Given the description of an element on the screen output the (x, y) to click on. 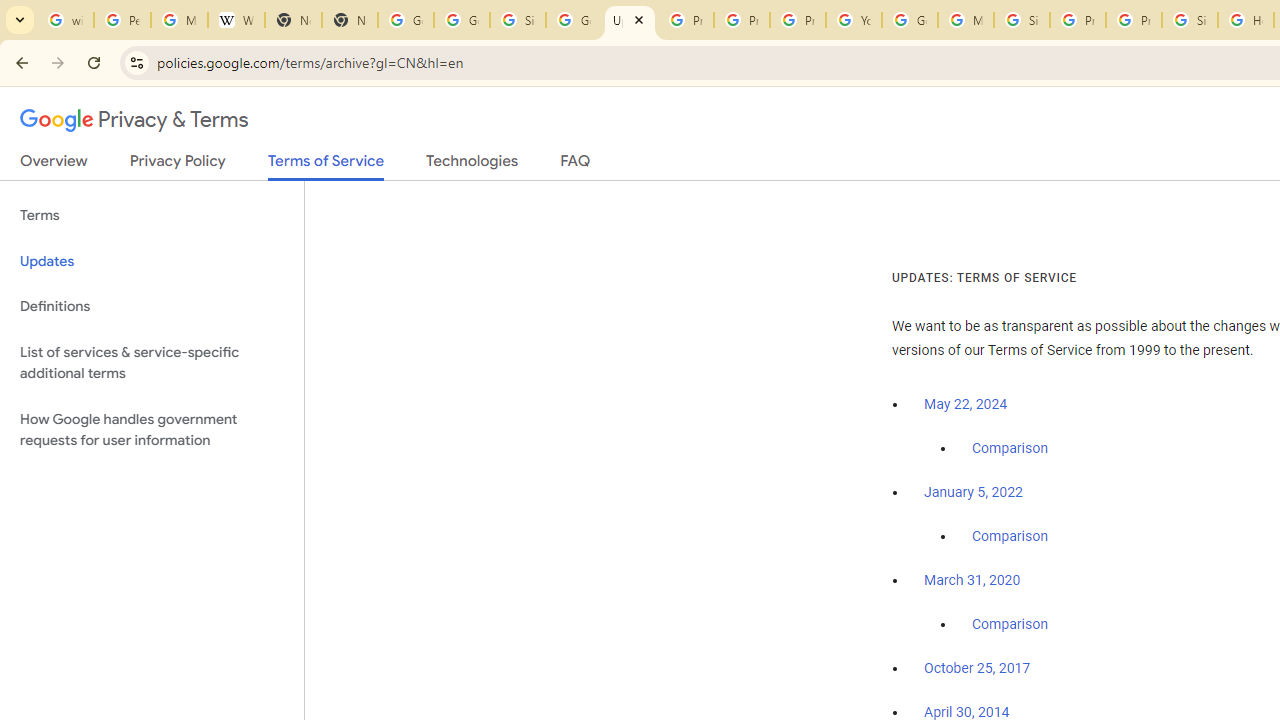
New Tab (349, 20)
Google Drive: Sign-in (461, 20)
May 22, 2024 (966, 404)
Comparison (1009, 625)
Personalization & Google Search results - Google Search Help (122, 20)
Sign in - Google Accounts (1190, 20)
